Given the description of an element on the screen output the (x, y) to click on. 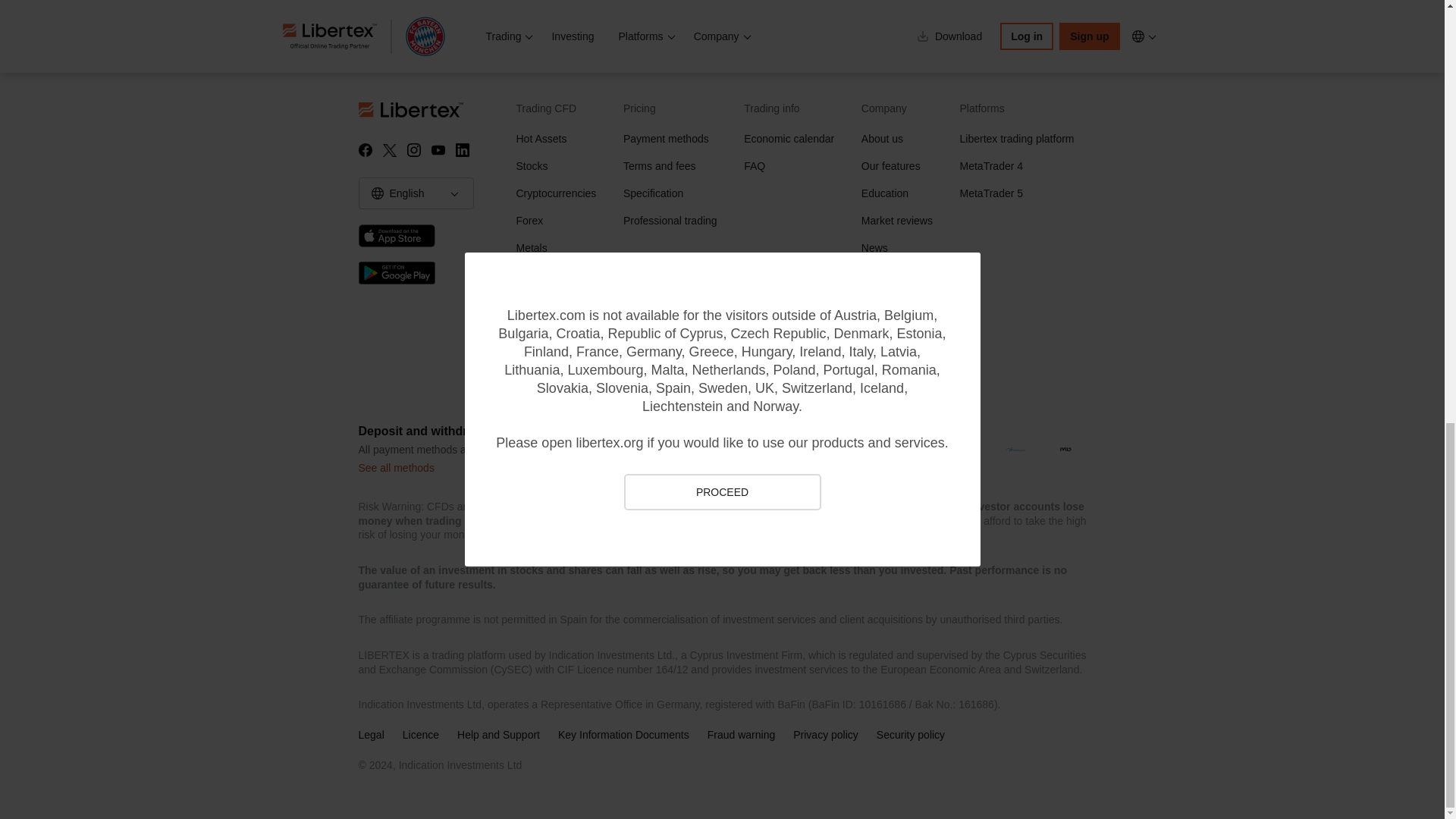
Libertex (430, 109)
English (377, 193)
